Given the description of an element on the screen output the (x, y) to click on. 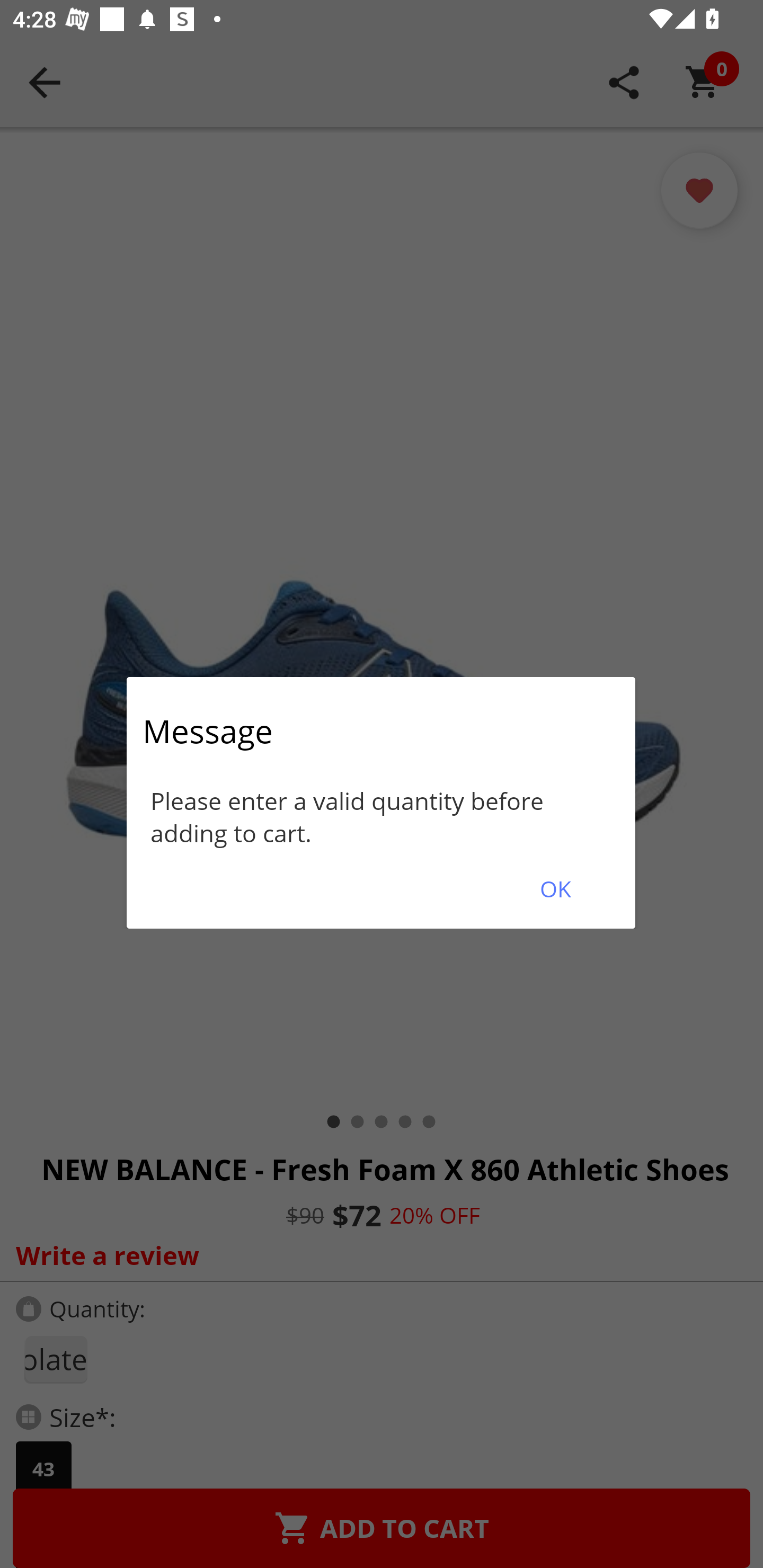
OK (555, 888)
